Given the description of an element on the screen output the (x, y) to click on. 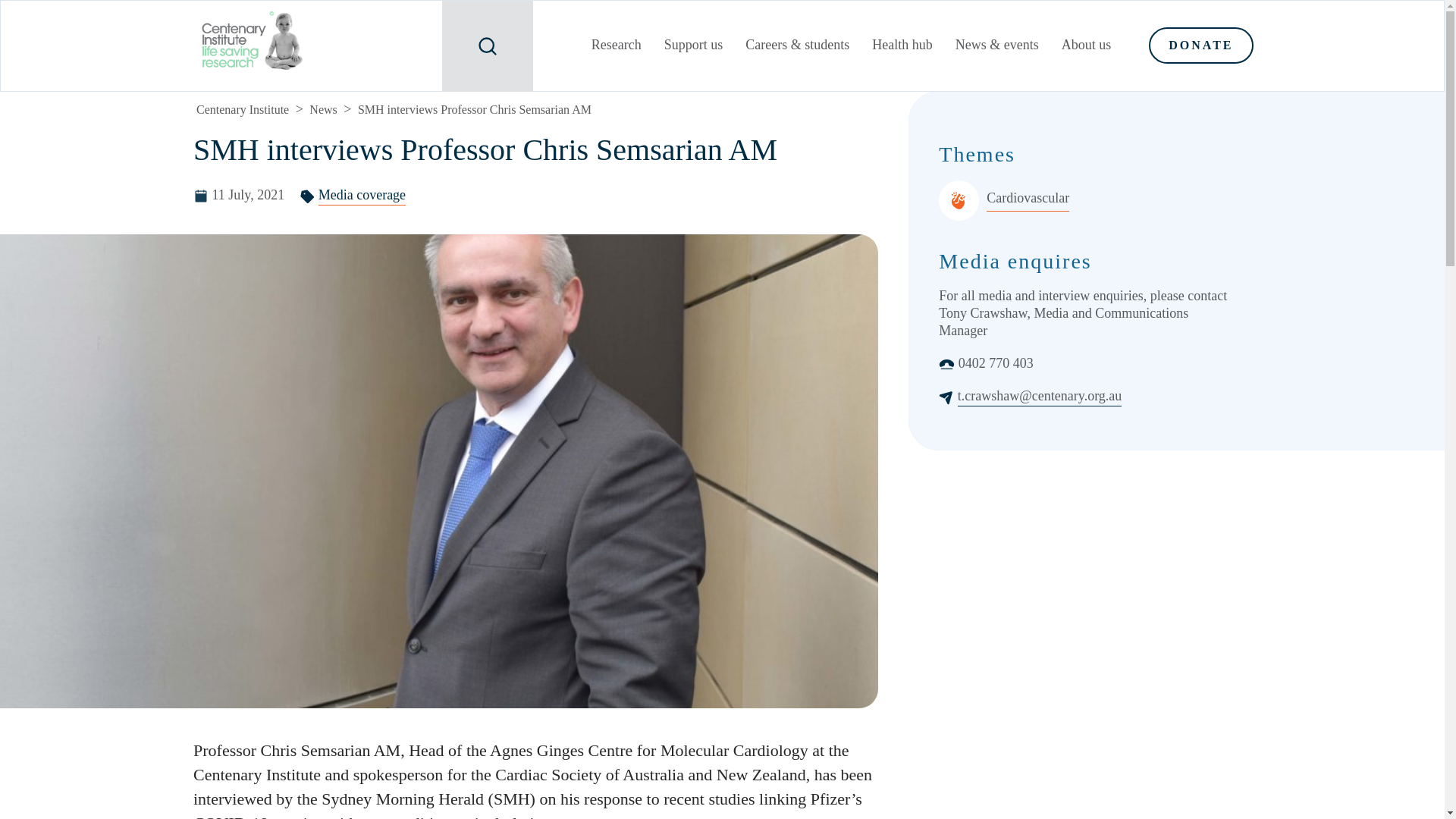
Research (616, 47)
Go to News. (322, 109)
Health hub (901, 47)
Go to Centenary Institute. (242, 109)
Support us (693, 47)
